Given the description of an element on the screen output the (x, y) to click on. 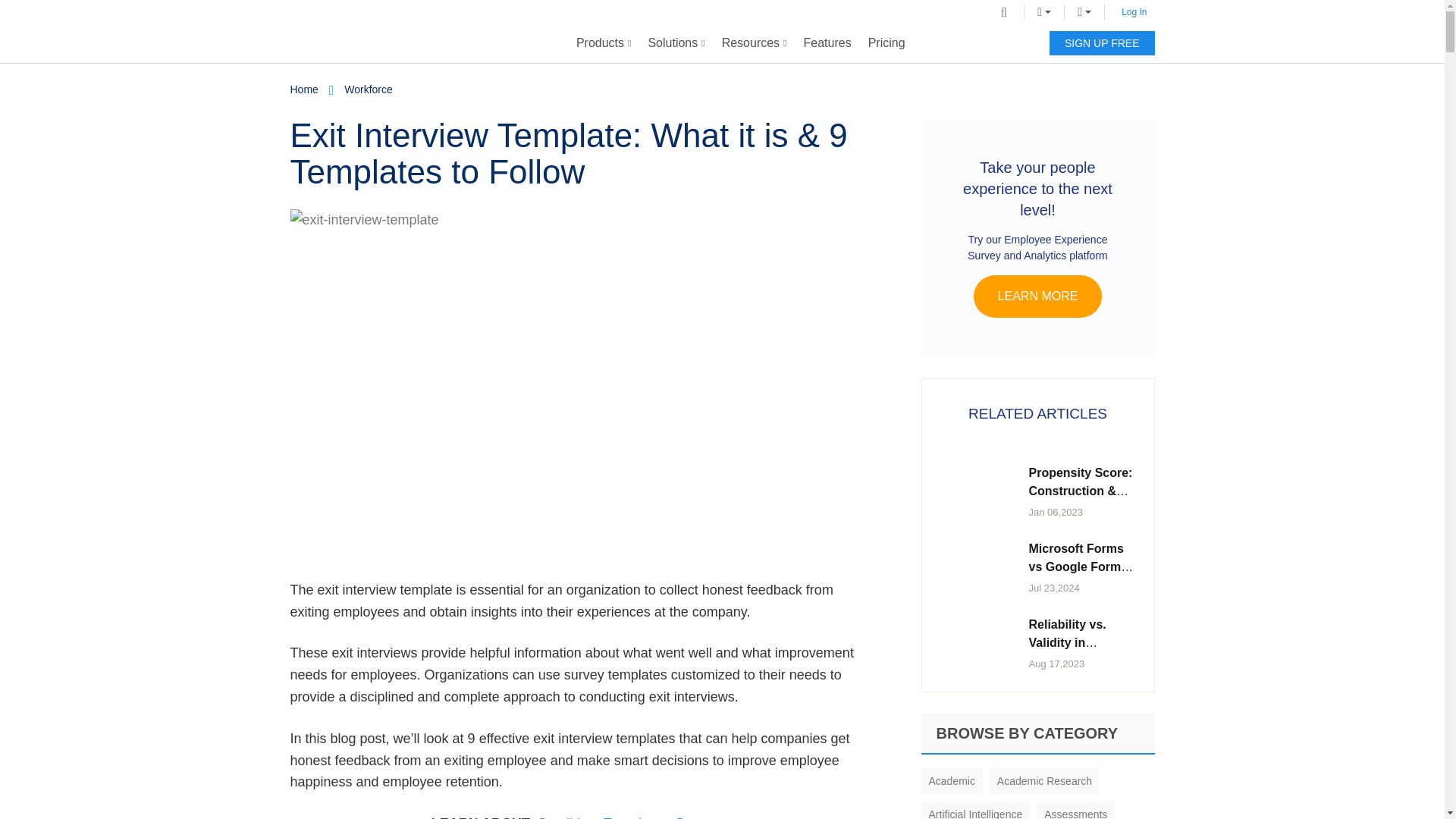
Pricing (887, 42)
Products (603, 42)
Resources (753, 42)
Features (827, 42)
Solutions (676, 42)
